Given the description of an element on the screen output the (x, y) to click on. 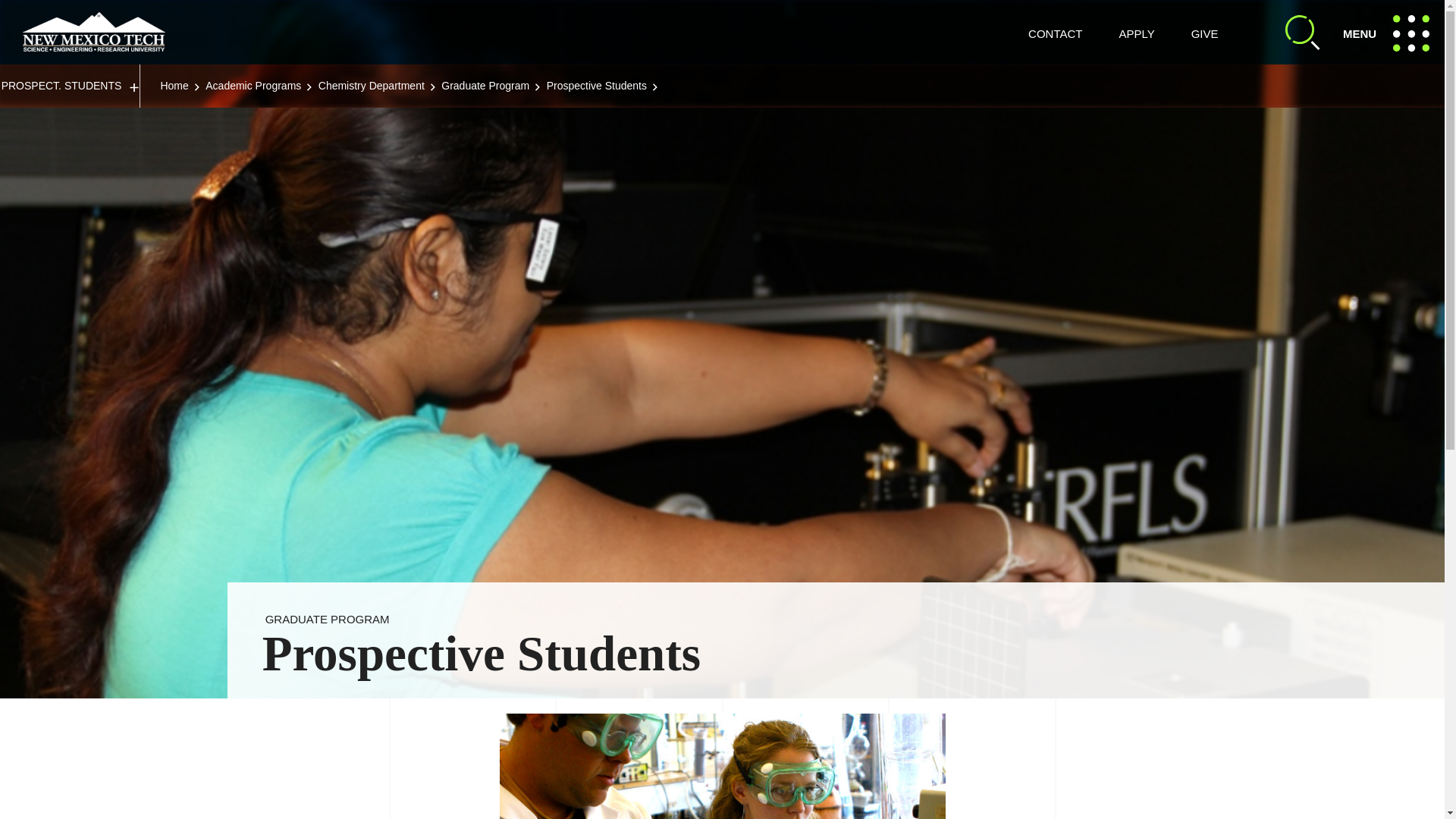
Home (173, 85)
Chemistry Department (371, 85)
expand search (1303, 32)
Graduate Program (485, 85)
APPLY (1135, 33)
PROSPECT. STUDENTS (69, 85)
GIVE (1204, 33)
New Mexico Tech - Home (1391, 32)
CONTACT (94, 32)
Academic Programs (1054, 33)
